Given the description of an element on the screen output the (x, y) to click on. 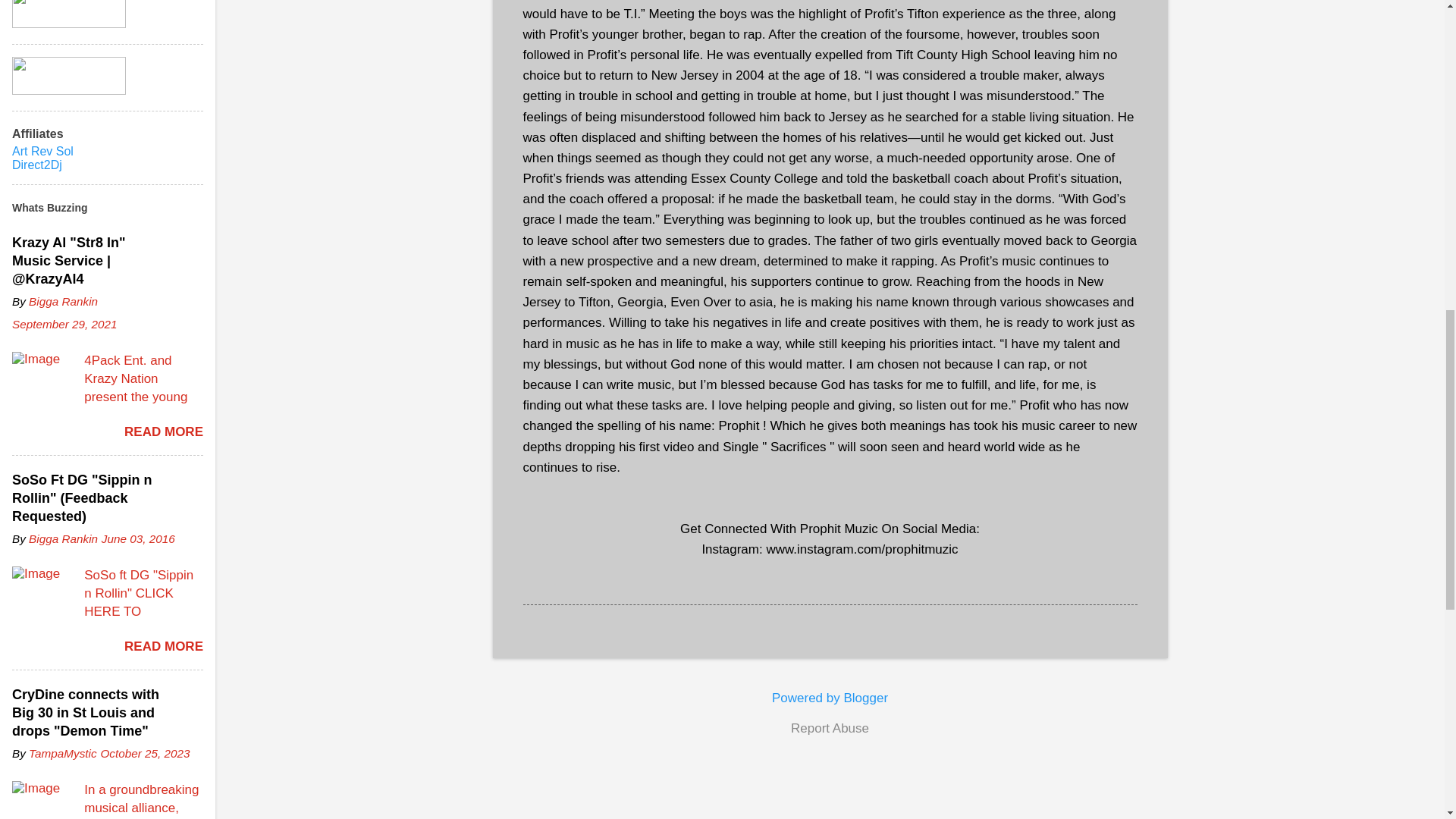
author profile (63, 300)
Report Abuse (829, 728)
Powered by Blogger (829, 698)
